Given the description of an element on the screen output the (x, y) to click on. 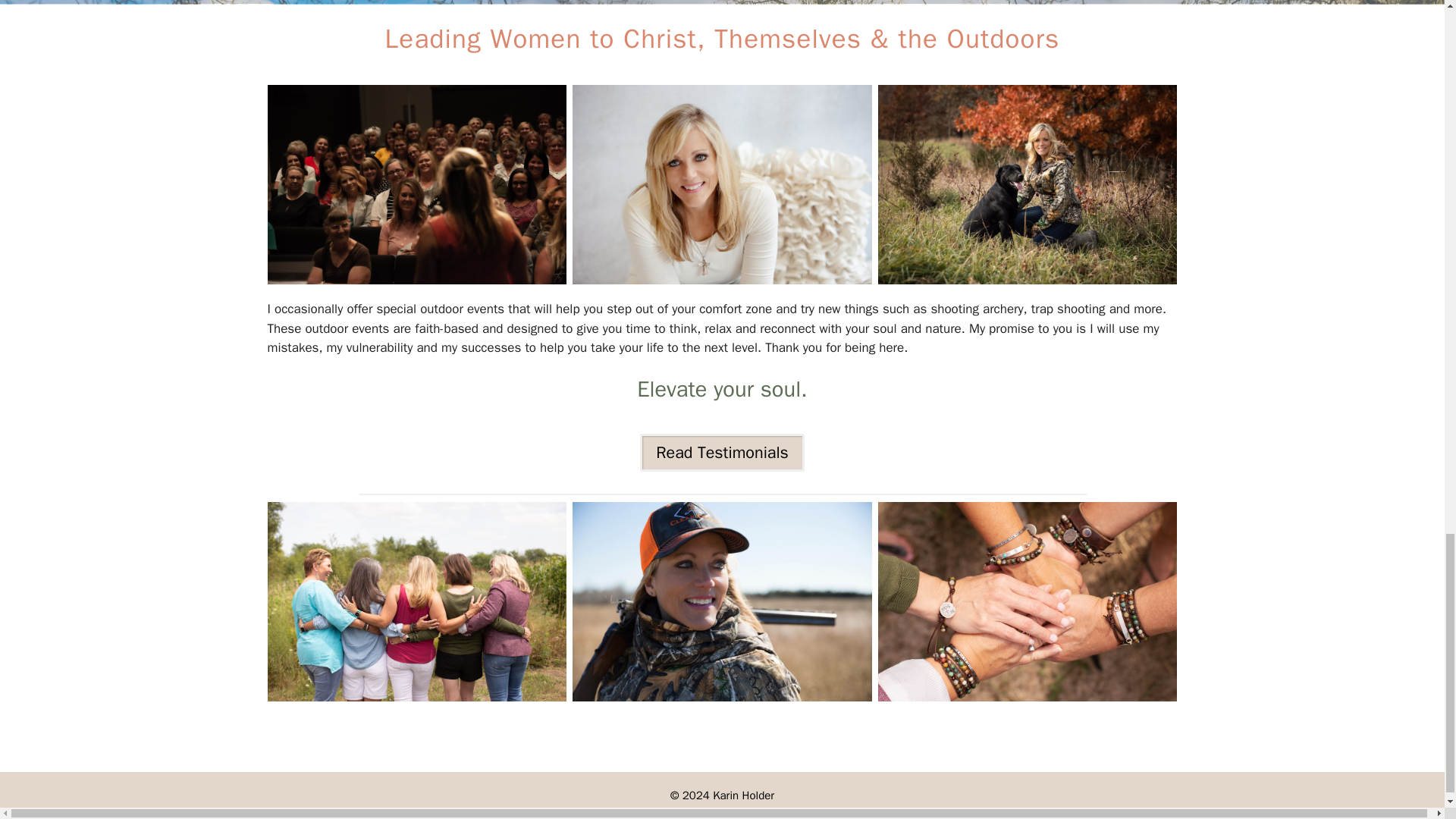
Read Testimonials (722, 452)
